Given the description of an element on the screen output the (x, y) to click on. 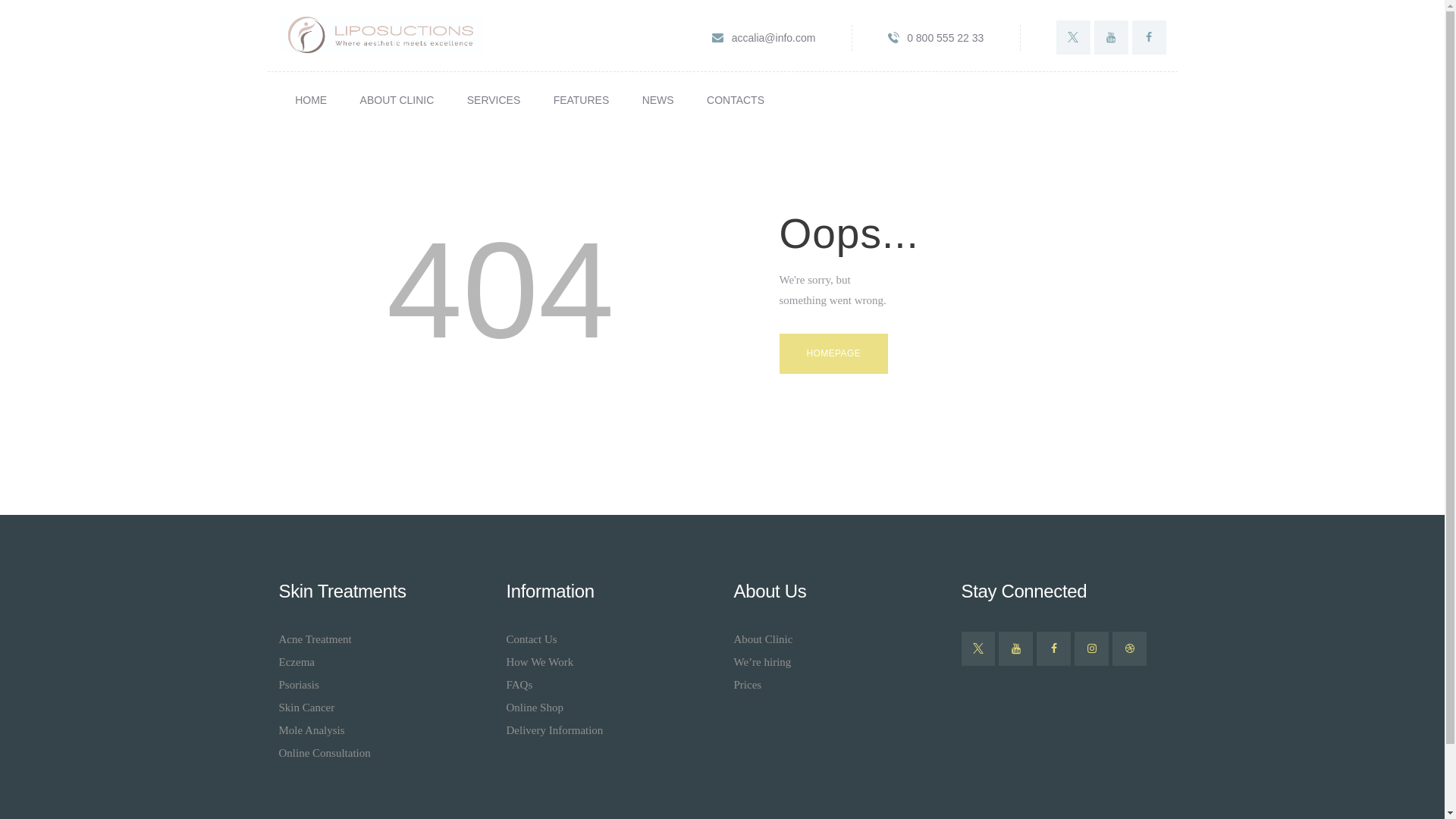
FEATURES (581, 99)
0 800 555 22 33 (936, 37)
ABOUT CLINIC (396, 99)
NEWS (658, 99)
SERVICES (493, 99)
HOME (311, 99)
